Given the description of an element on the screen output the (x, y) to click on. 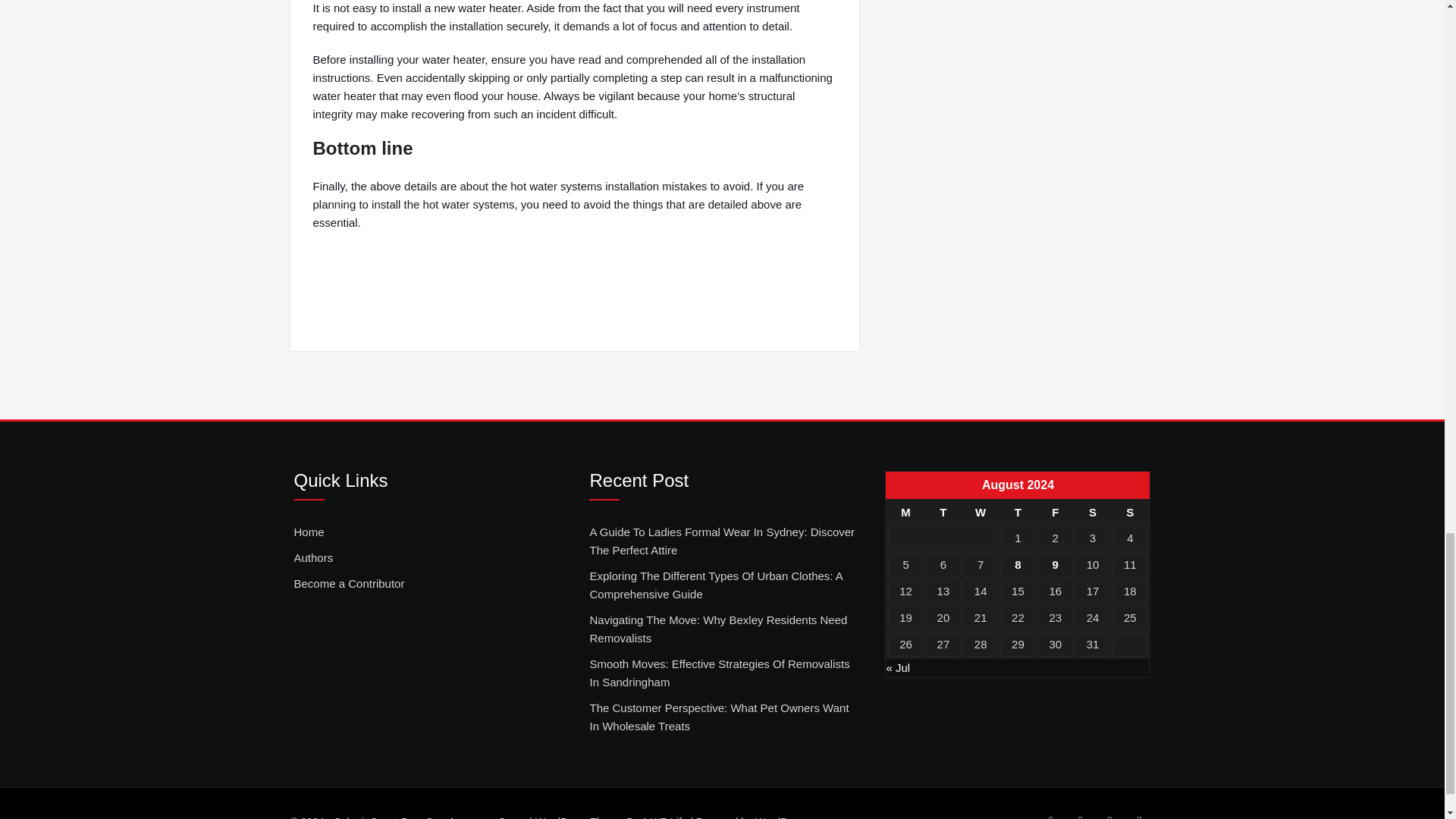
Sunday (1129, 512)
Monday (905, 512)
Friday (1055, 512)
Thursday (1017, 512)
Home (309, 532)
Authors (313, 557)
Wednesday (979, 512)
Tuesday (943, 512)
Saturday (1092, 512)
